Given the description of an element on the screen output the (x, y) to click on. 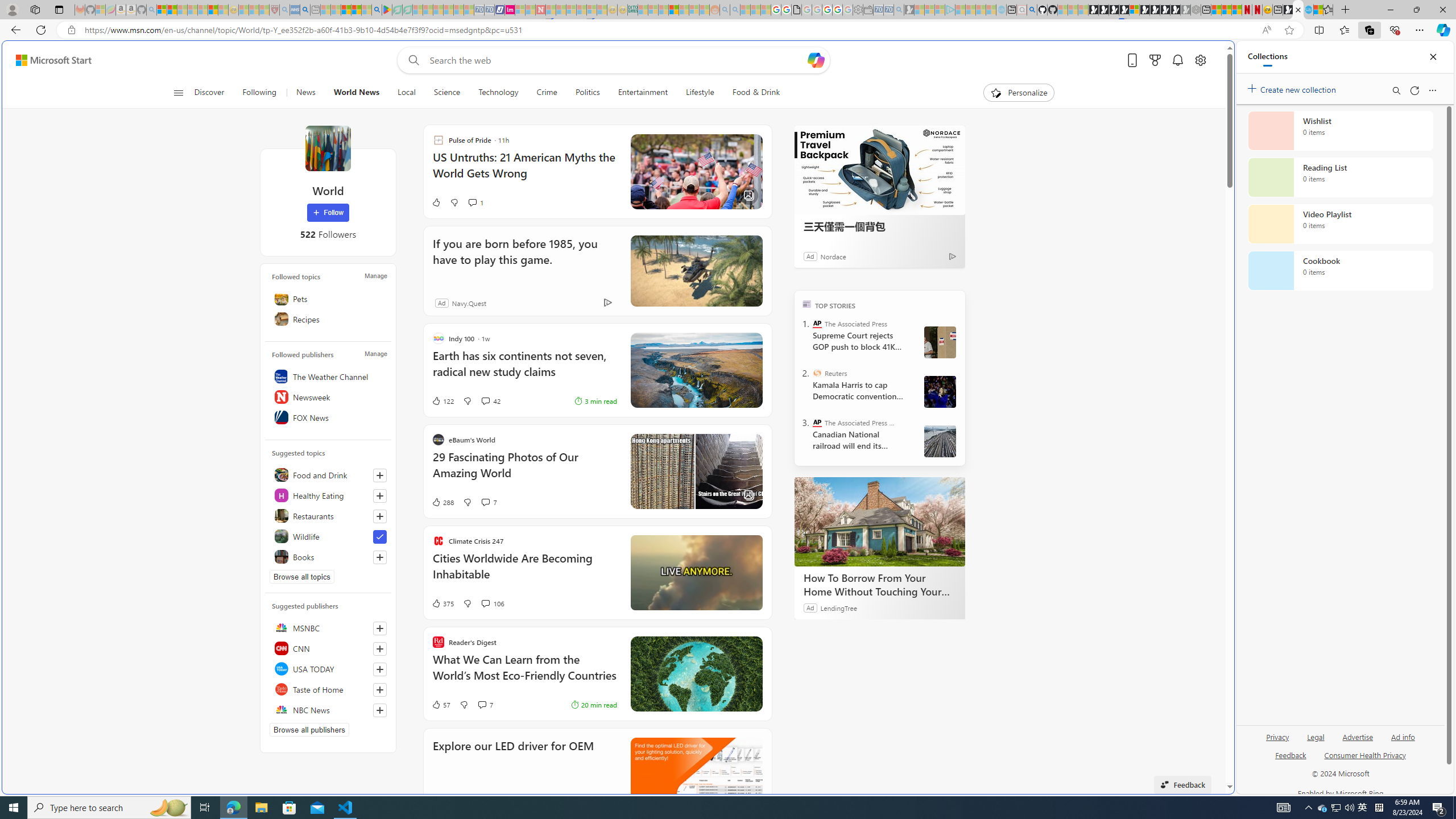
Sign in to your account (1134, 9)
Expert Portfolios (673, 9)
Wildlife (327, 536)
The Associated Press - Business News (816, 422)
NBC News (327, 709)
Class: hero-image (696, 572)
